Given the description of an element on the screen output the (x, y) to click on. 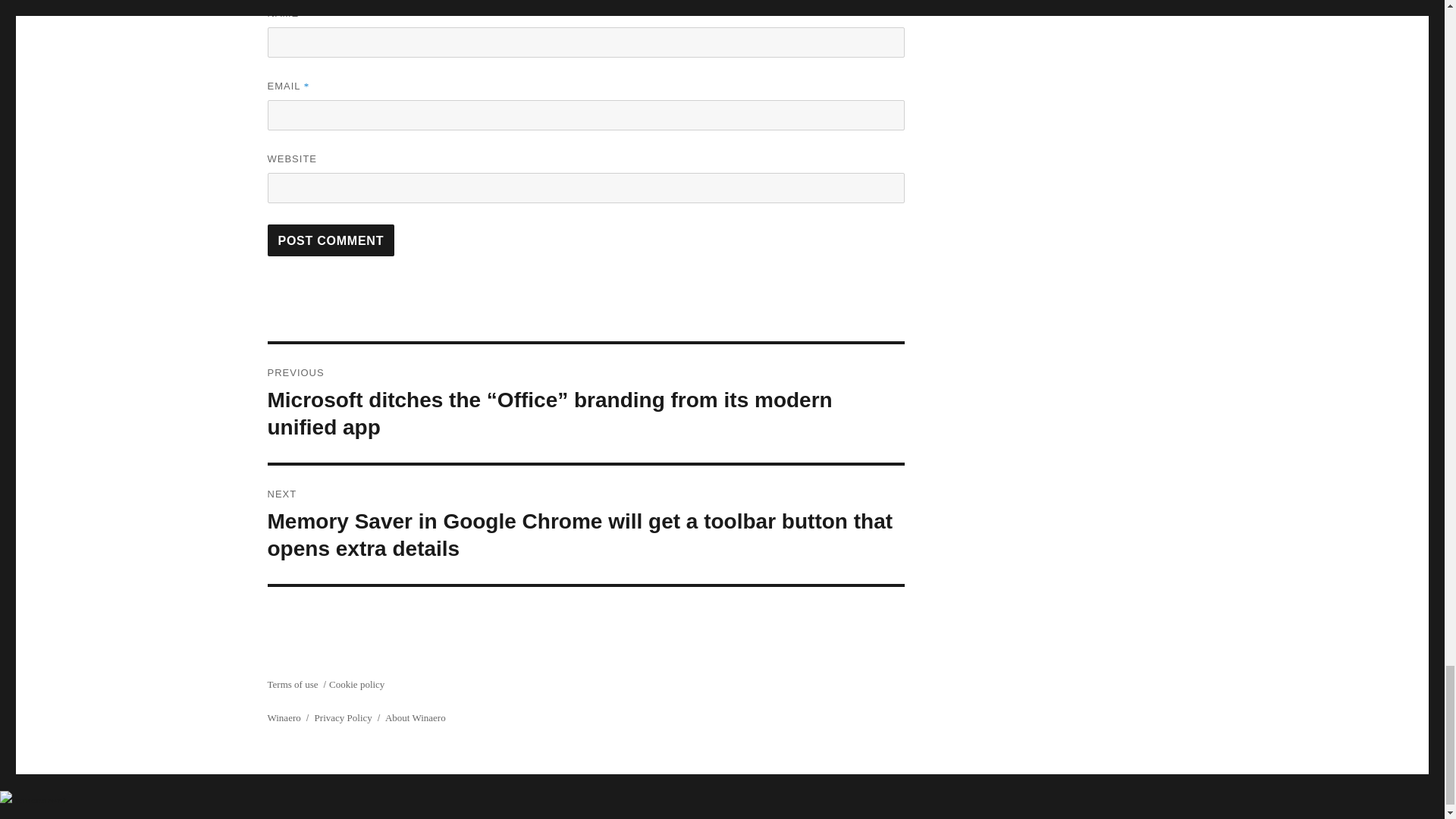
Post Comment (330, 240)
Post Comment (330, 240)
